Given the description of an element on the screen output the (x, y) to click on. 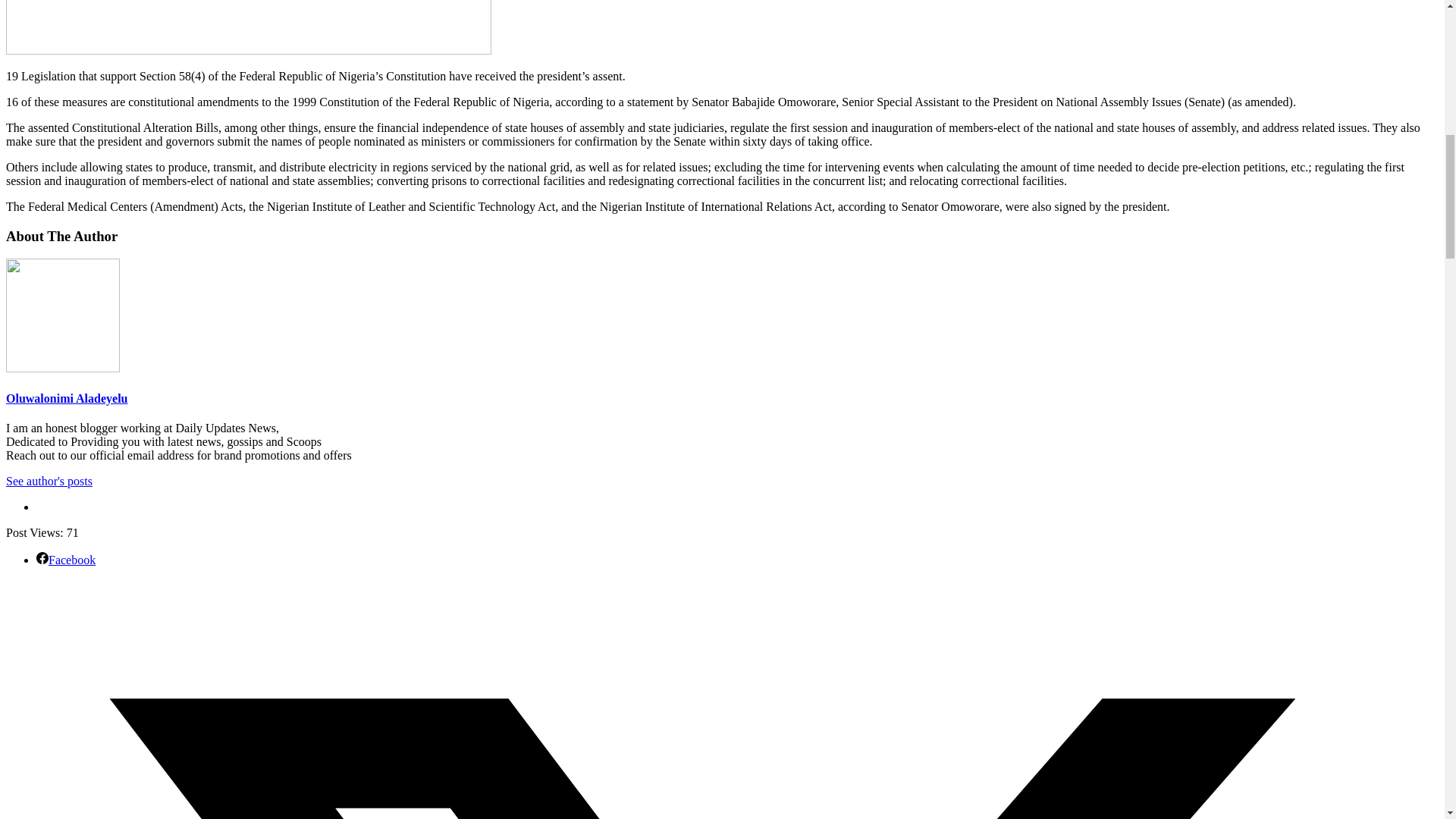
Share on Facebook (66, 559)
Facebook (66, 559)
Oluwalonimi Aladeyelu (66, 398)
See author's posts (49, 481)
